Given the description of an element on the screen output the (x, y) to click on. 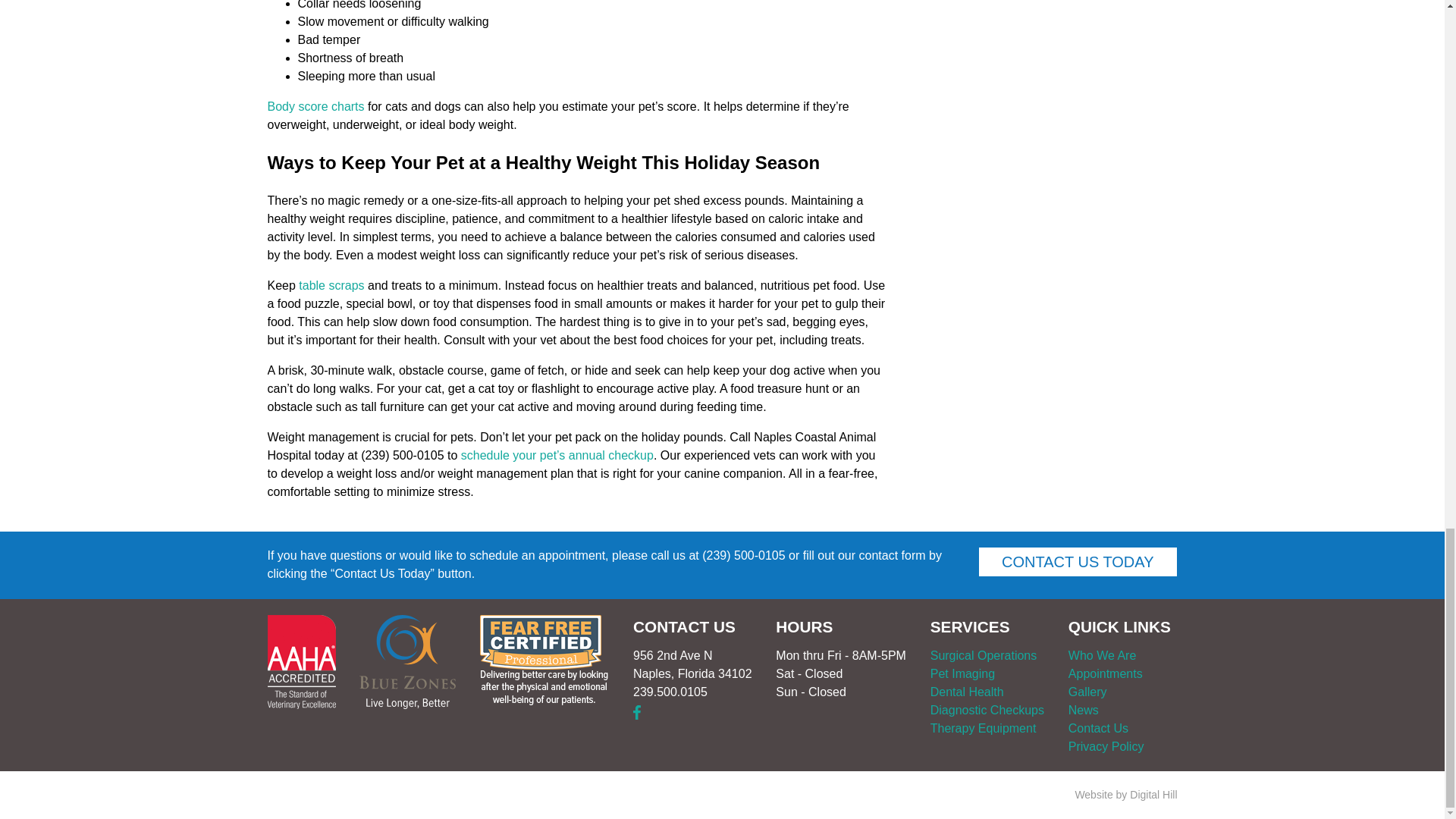
Dental Health (967, 691)
Pet Imaging (962, 673)
CONTACT US TODAY (1077, 562)
Diagnostic Checkups (986, 709)
Therapy Equipment (983, 727)
Surgical Operations (983, 655)
table scraps (331, 285)
Body score charts (315, 106)
